Given the description of an element on the screen output the (x, y) to click on. 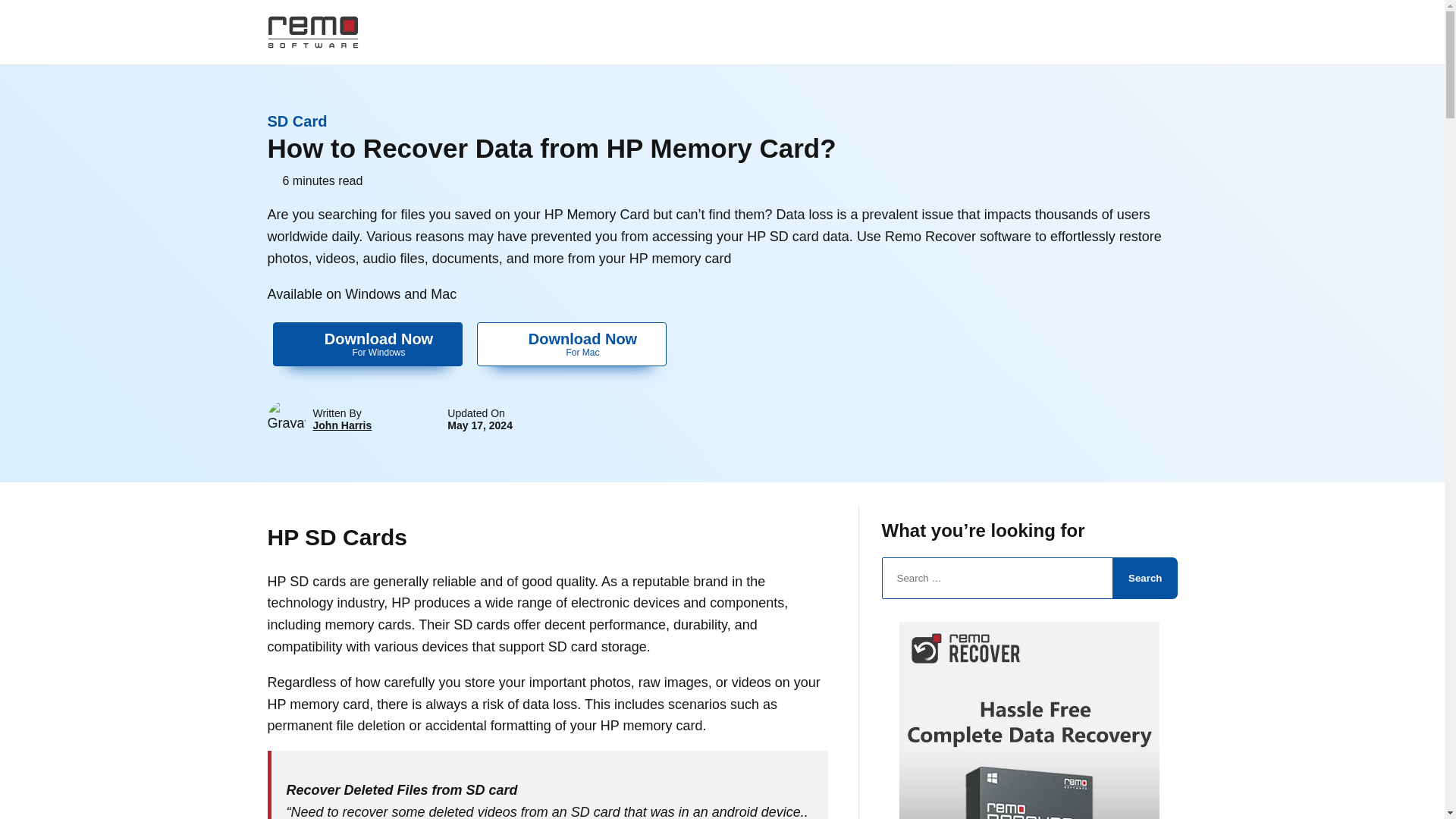
Search (1144, 577)
Search (1144, 577)
SD Card (571, 344)
John Harris (296, 121)
Search (342, 425)
Remo Software (368, 344)
